Given the description of an element on the screen output the (x, y) to click on. 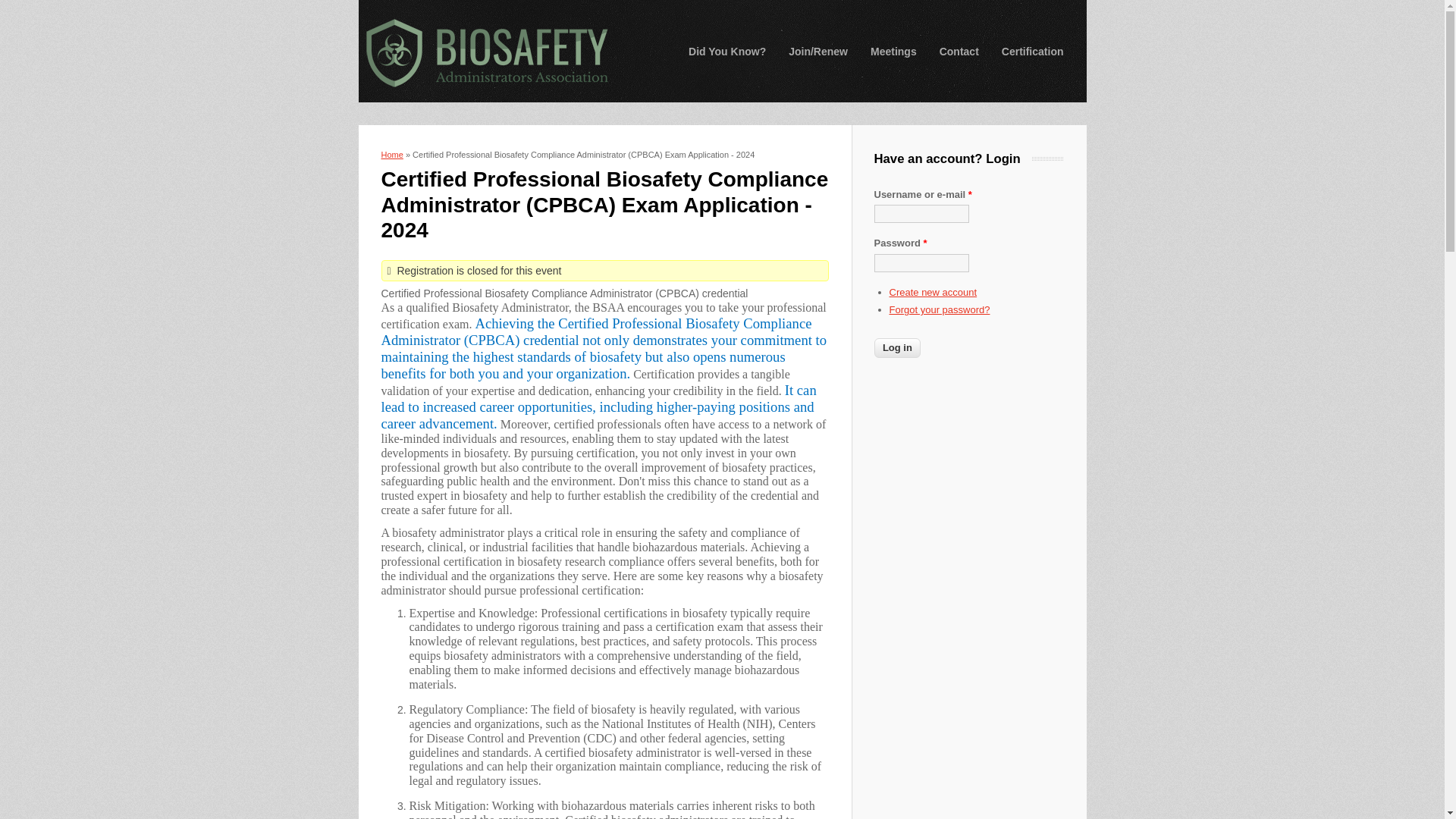
Meetings (893, 51)
Home (391, 153)
Contact (959, 51)
Home (486, 52)
Log in (896, 347)
Certification (1032, 51)
Forgot your password? (939, 309)
Did You Know? (727, 51)
Create a new user account. (932, 292)
Log in (896, 347)
Create new account (932, 292)
Request new password via e-mail. (939, 309)
